Given the description of an element on the screen output the (x, y) to click on. 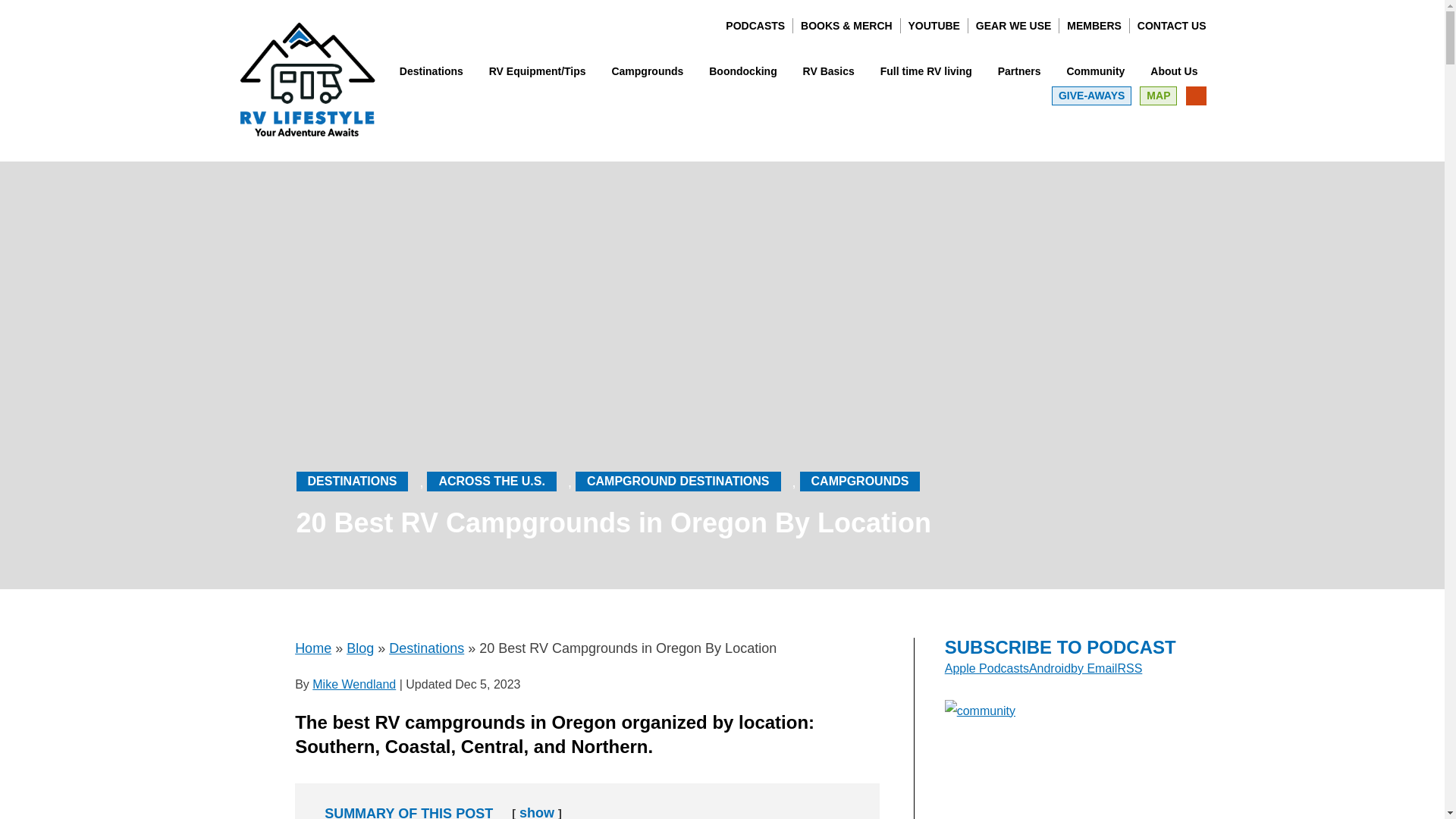
PODCASTS (754, 25)
Destinations (430, 70)
CONTACT US (1172, 25)
YOUTUBE (933, 25)
Subscribe via RSS (1128, 667)
GEAR WE USE (1013, 25)
Subscribe on Android (1049, 667)
Subscribe on Apple Podcasts (986, 667)
MEMBERS (1094, 25)
Subscribe by Email (1093, 667)
